Given the description of an element on the screen output the (x, y) to click on. 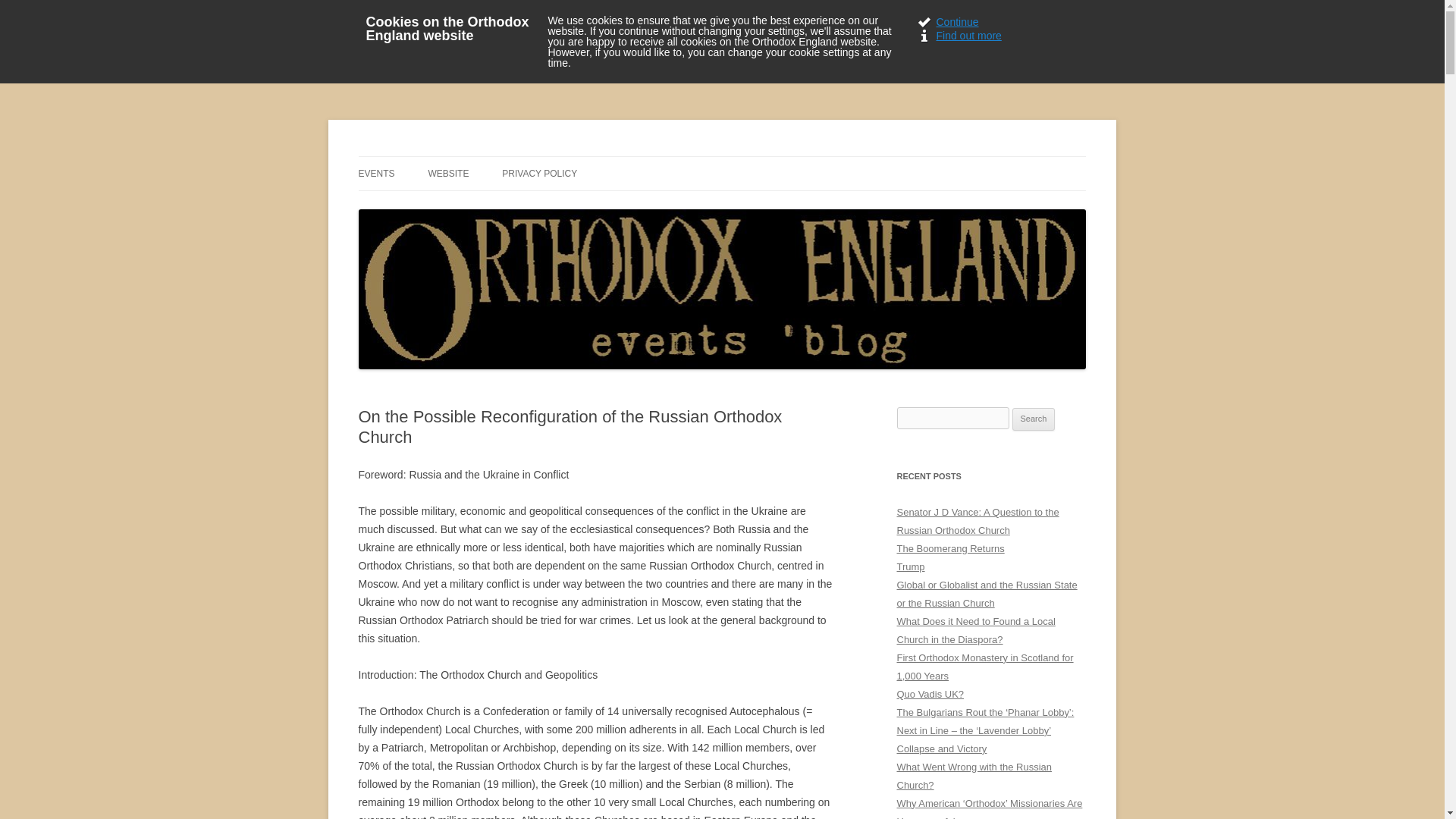
PRIVACY POLICY (539, 173)
Continue (994, 21)
Search (1033, 418)
Events (376, 173)
What Went Wrong with the Russian Church? (973, 776)
Senator J D Vance: A Question to the Russian Orthodox Church (977, 521)
WEBSITE (448, 173)
Trump (910, 566)
First Orthodox Monastery in Scotland for 1,000 Years (984, 666)
Find out more (994, 35)
Quo Vadis UK? (929, 694)
EVENTS (376, 173)
Collapse and Victory (941, 748)
